Given the description of an element on the screen output the (x, y) to click on. 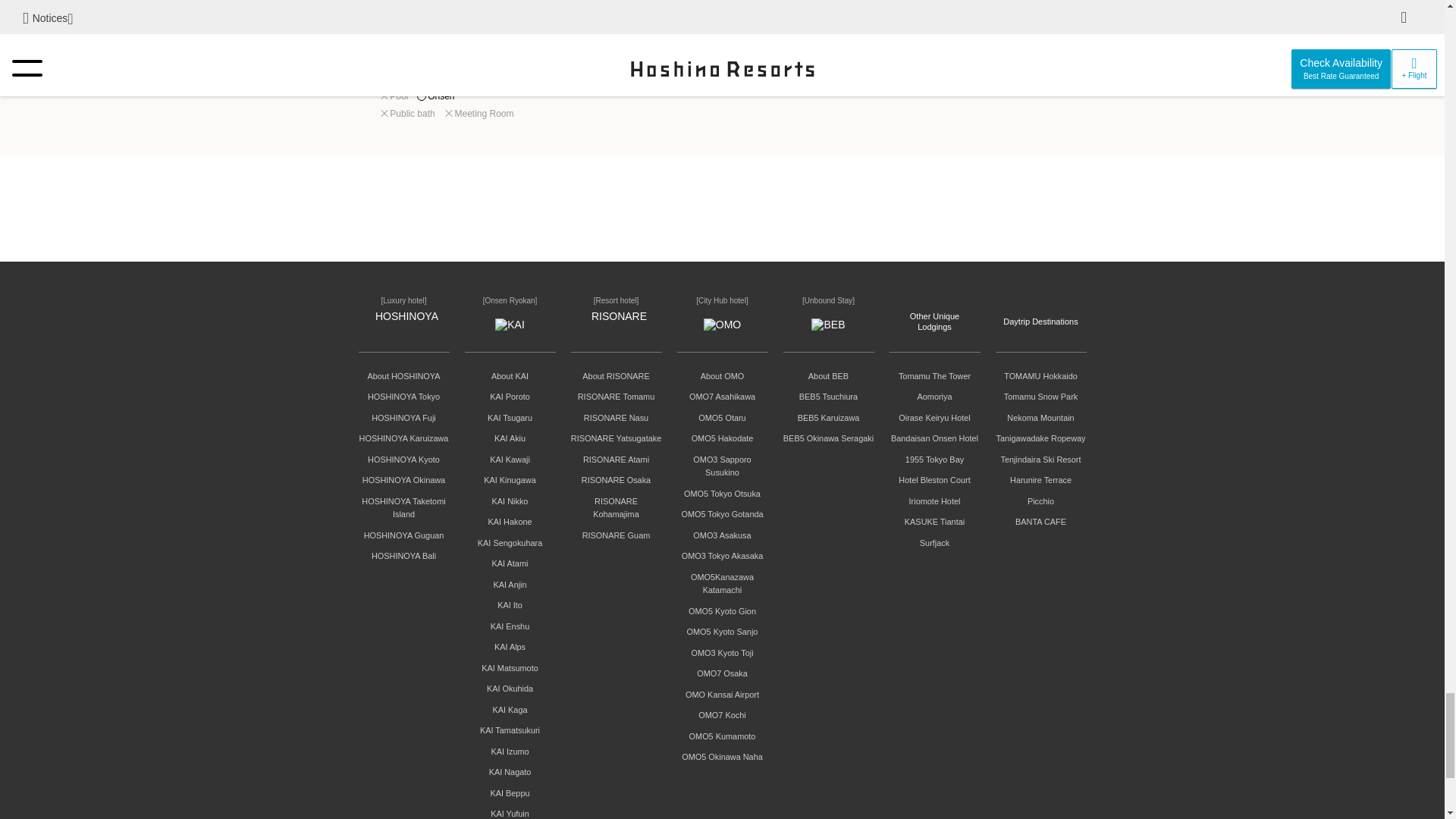
HOSHINOYA Kyoto (403, 459)
KAI Kinugawa (509, 479)
HOSHINOYA Karuizawa (403, 438)
HOSHINOYA Tokyo (403, 396)
HOSHINOYA Guguan (404, 534)
KAI Tsugaru (509, 417)
HOSHINOYA Fuji (403, 417)
KAI Nikko (510, 501)
Room Amenities (609, 91)
HOSHINOYA Okinawa (403, 479)
